Given the description of an element on the screen output the (x, y) to click on. 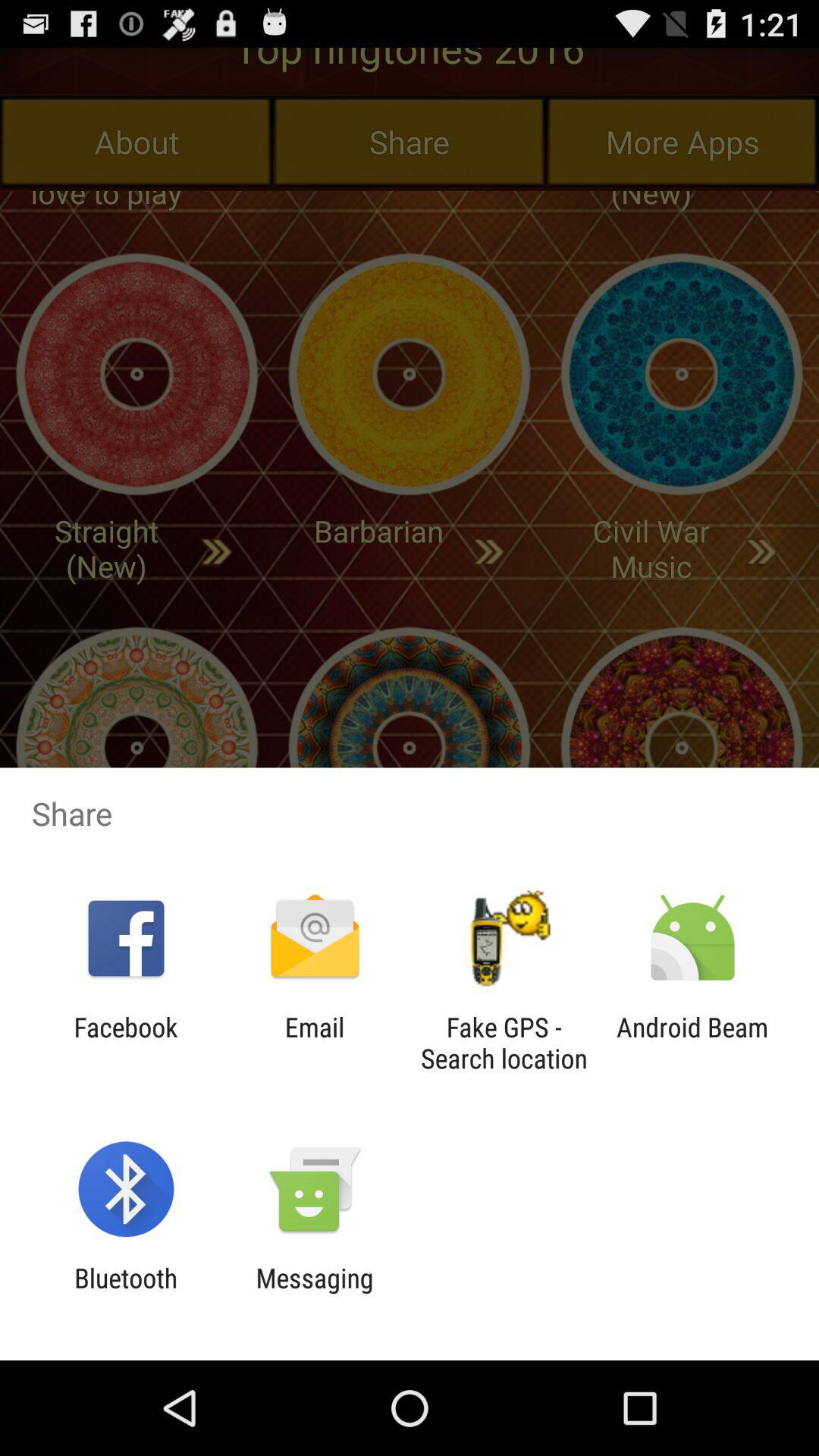
open item to the right of bluetooth icon (314, 1293)
